Given the description of an element on the screen output the (x, y) to click on. 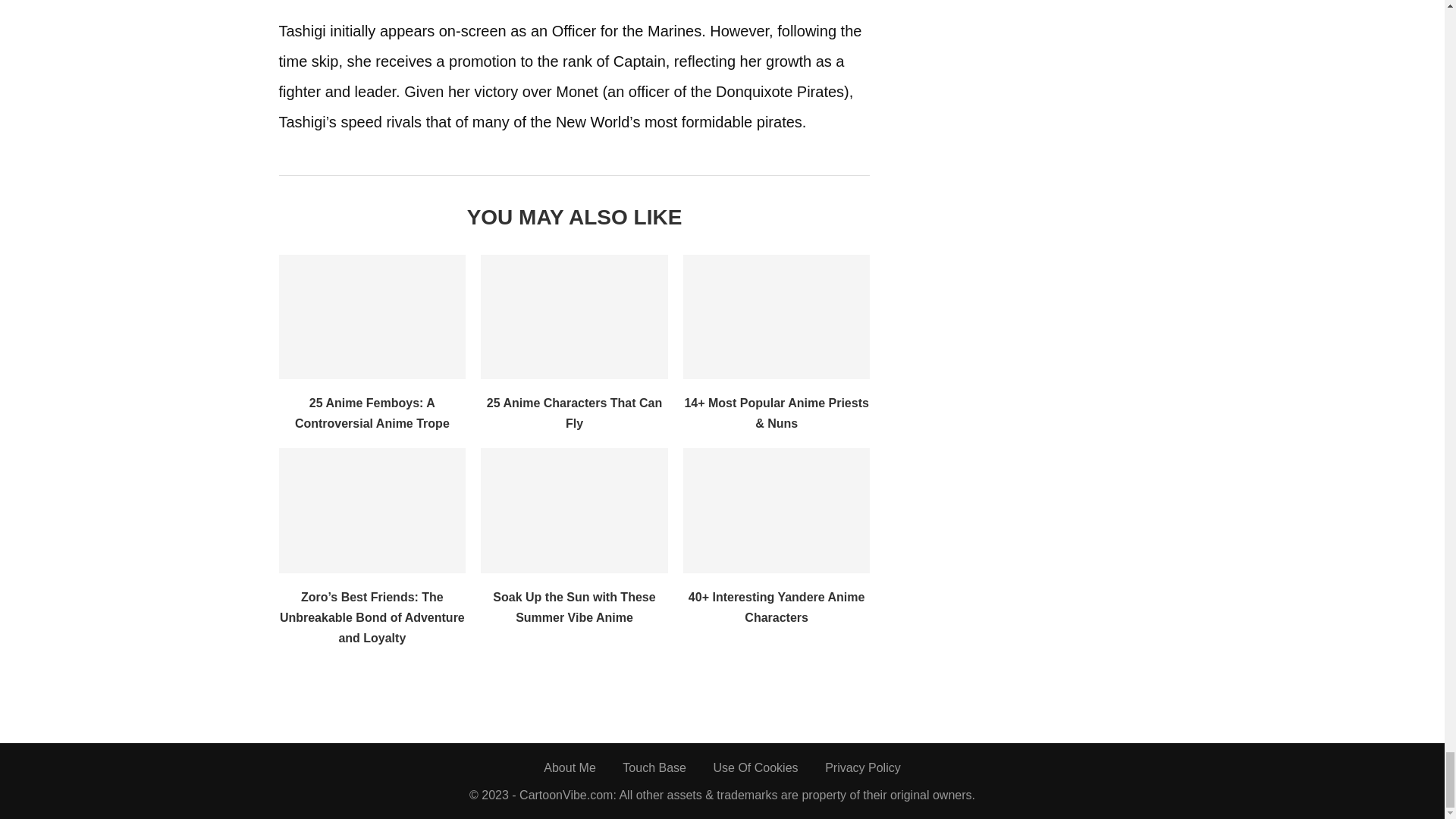
Privacy Policy (863, 767)
25 Anime Characters That Can Fly (574, 316)
25 Anime Characters That Can Fly (574, 412)
Use Of Cookies (755, 767)
Soak Up the Sun with These Summer Vibe Anime (574, 607)
25 Anime Femboys: A Controversial Anime Trope (372, 316)
Touch Base (654, 767)
25 Anime Femboys: A Controversial Anime Trope (372, 412)
About Me (569, 767)
Soak Up the Sun with These Summer Vibe Anime (574, 509)
